Given the description of an element on the screen output the (x, y) to click on. 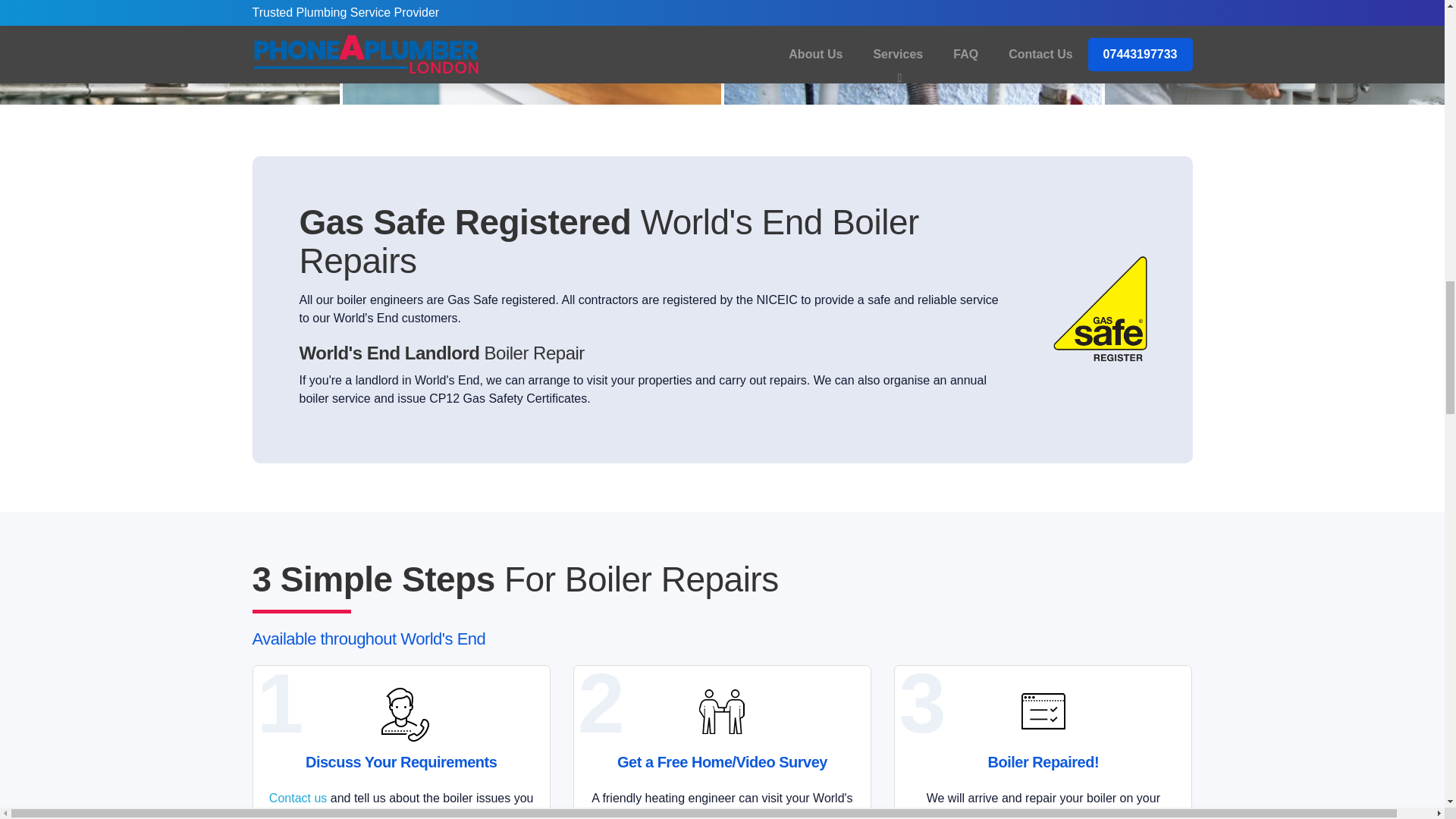
Boiler Repaired! (1043, 711)
Contact us (297, 798)
Gas Safe Registered Plumber (1101, 309)
Discuss Your Requirements (400, 711)
